Given the description of an element on the screen output the (x, y) to click on. 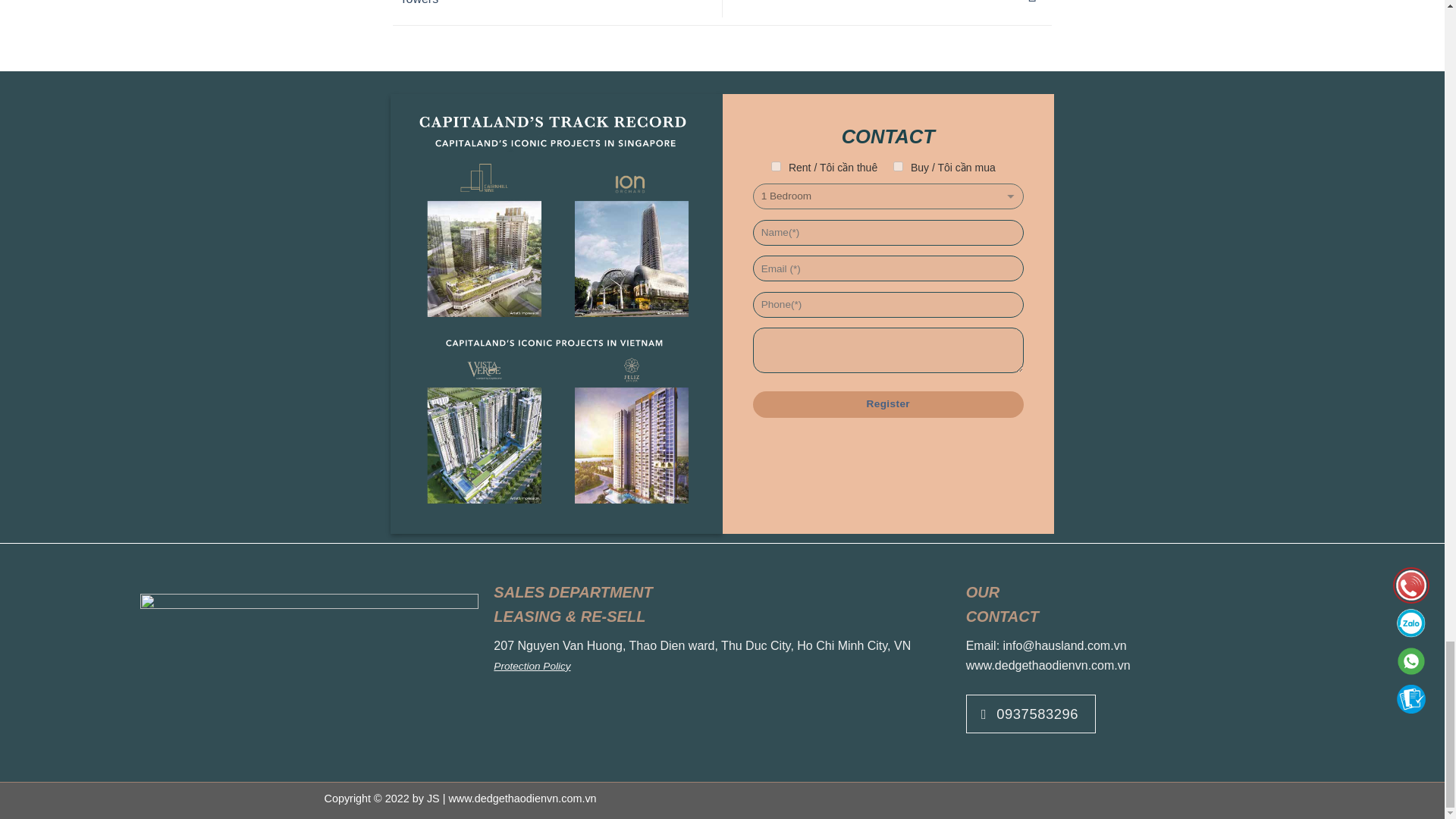
Price List of De La Sol Project Alto Towers and Cello Towers (554, 2)
www.dedgethaodienvn.com.vn (1048, 665)
Protection Policy (531, 665)
Register (887, 404)
Register (887, 404)
